Given the description of an element on the screen output the (x, y) to click on. 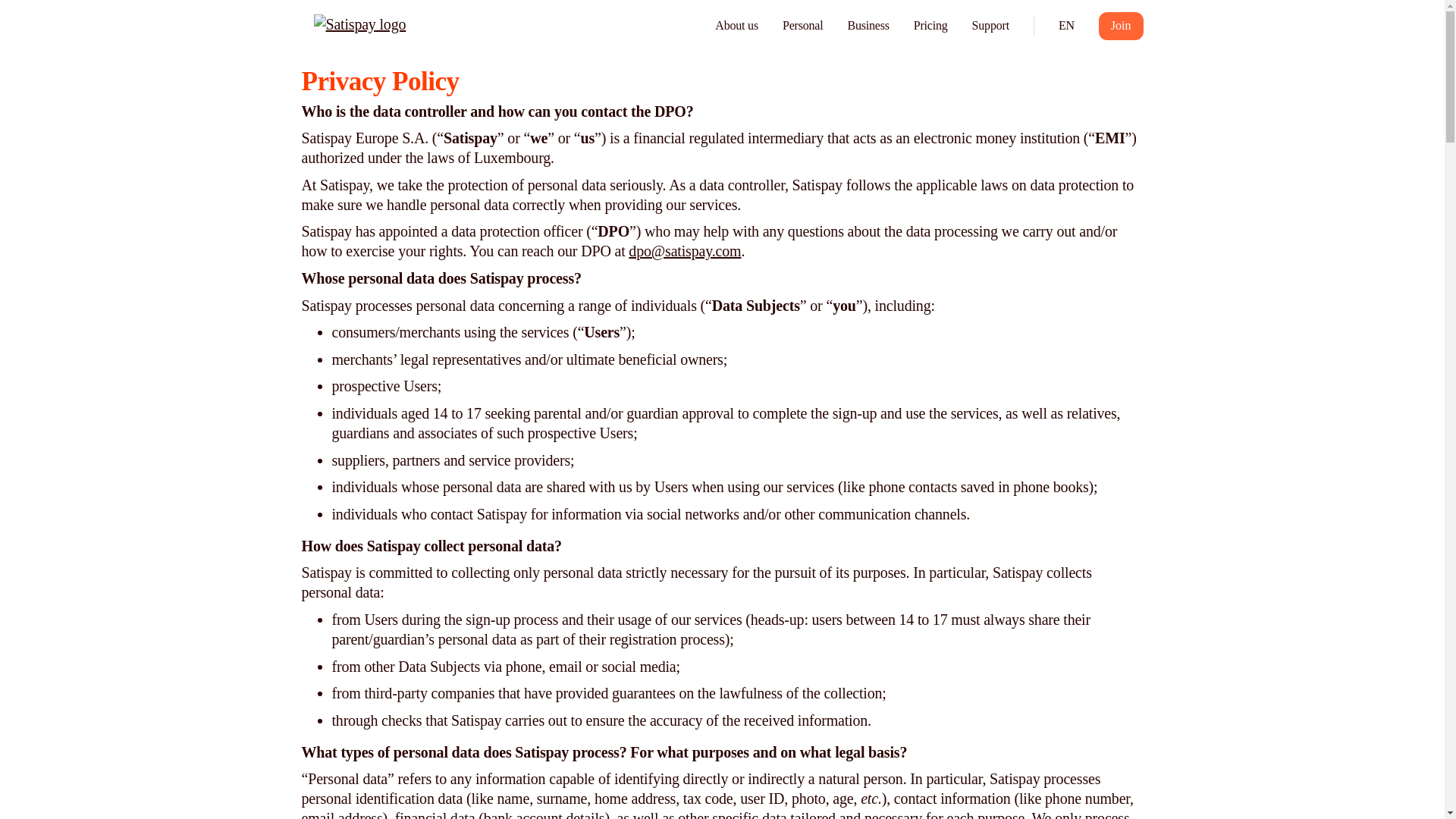
Join (1120, 26)
